Given the description of an element on the screen output the (x, y) to click on. 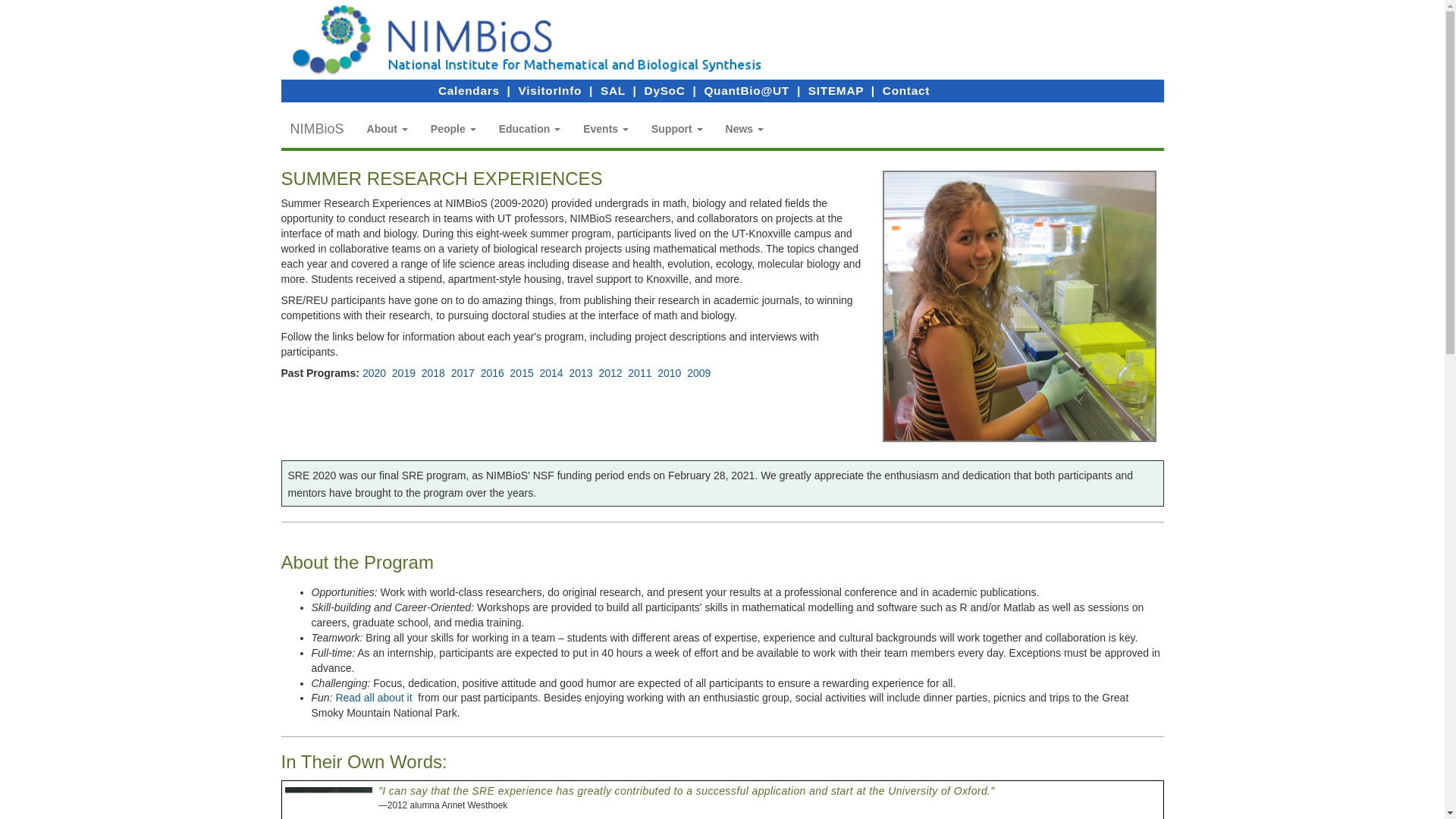
Contact (906, 90)
People (453, 128)
SITEMAP (835, 90)
NIMBioS (317, 128)
VisitorInfo (550, 90)
DySoC (665, 90)
Calendars (468, 90)
SAL (612, 90)
About (387, 128)
Education (529, 128)
Spatial Analysis Lab (612, 90)
Quantitative Bioscience at UT (746, 90)
Center for the Dynamics of Social Complexity (665, 90)
